Given the description of an element on the screen output the (x, y) to click on. 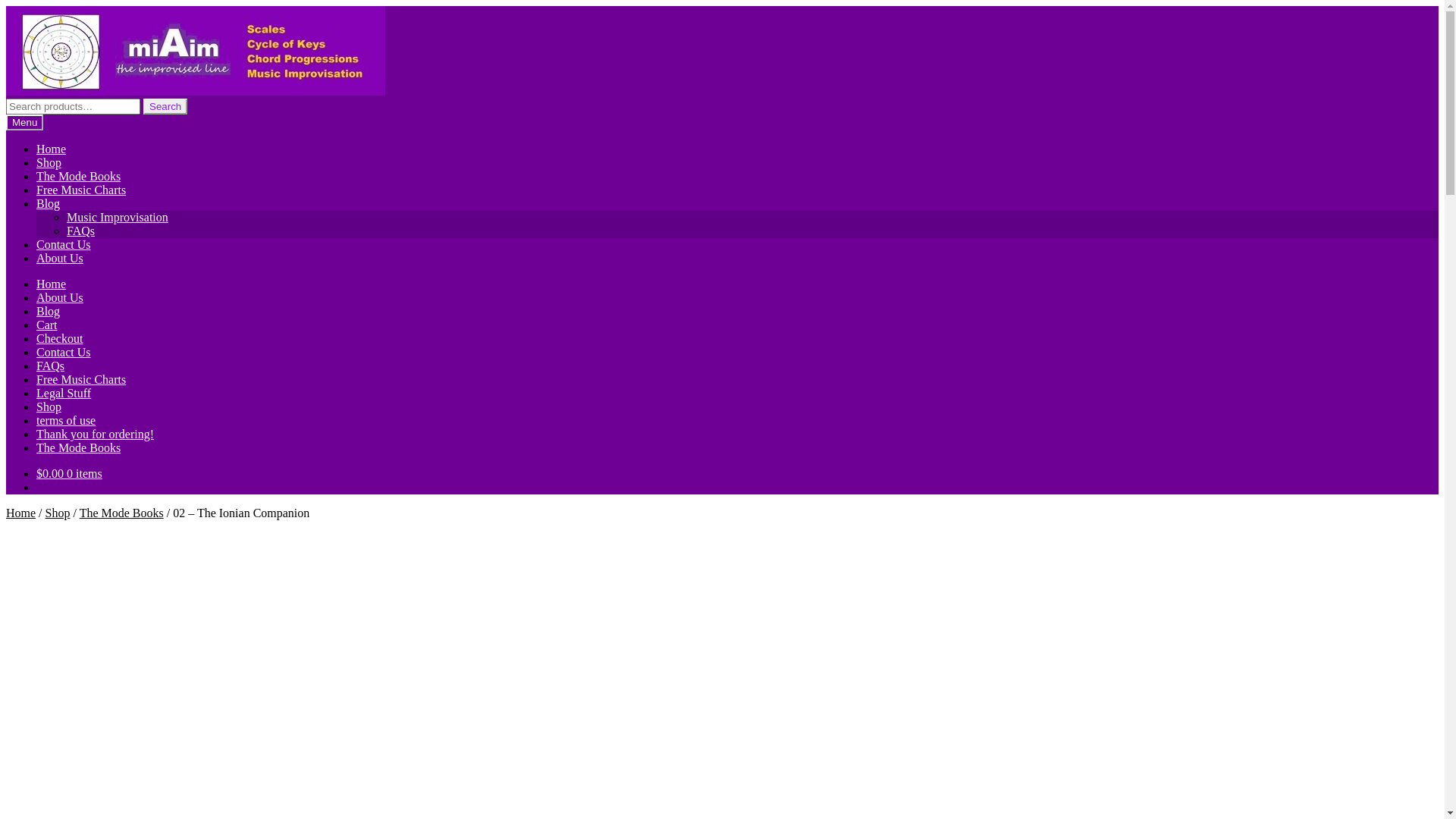
Legal Stuff Element type: text (63, 392)
About Us Element type: text (59, 257)
The Mode Books Element type: text (78, 447)
Contact Us Element type: text (63, 351)
terms of use Element type: text (65, 420)
Skip to navigation Element type: text (5, 5)
The Mode Books Element type: text (78, 175)
FAQs Element type: text (80, 230)
Home Element type: text (50, 148)
FAQs Element type: text (50, 365)
Blog Element type: text (47, 310)
Contact Us Element type: text (63, 244)
About Us Element type: text (59, 297)
Thank you for ordering! Element type: text (94, 433)
Shop Element type: text (48, 406)
Free Music Charts Element type: text (80, 189)
Shop Element type: text (57, 512)
Home Element type: text (20, 512)
Search Element type: text (165, 106)
Music Improvisation Element type: text (117, 216)
$0.00 0 items Element type: text (69, 473)
The Mode Books Element type: text (121, 512)
Blog Element type: text (47, 203)
Cart Element type: text (46, 324)
Shop Element type: text (48, 162)
Home Element type: text (50, 283)
Free Music Charts Element type: text (80, 379)
Checkout Element type: text (59, 338)
Menu Element type: text (24, 122)
